Given the description of an element on the screen output the (x, y) to click on. 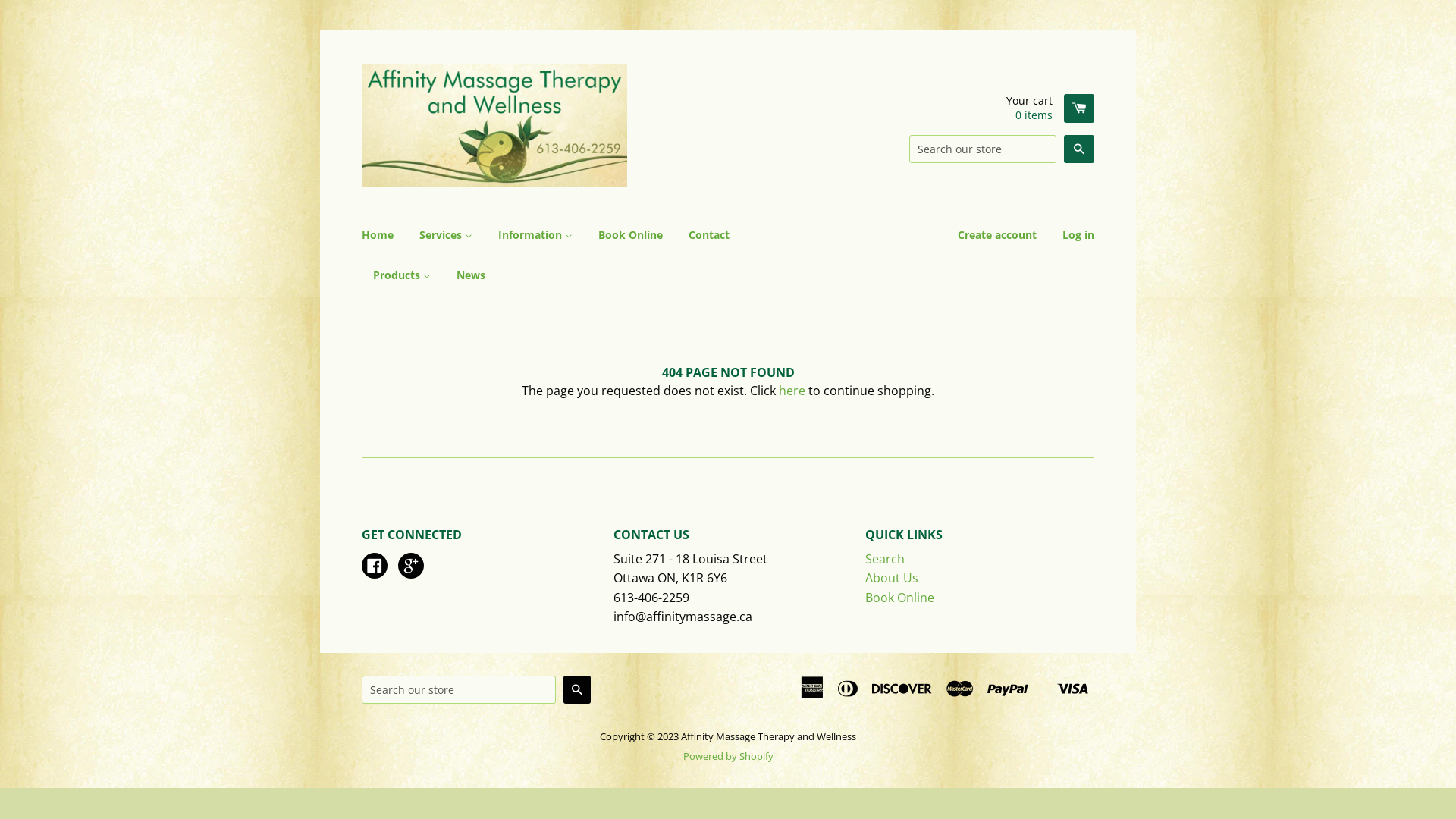
Information Element type: text (534, 234)
Search Element type: text (884, 558)
Book Online Element type: text (899, 597)
News Element type: text (465, 274)
here Element type: text (791, 390)
Search Element type: text (576, 689)
Log in Element type: text (1072, 234)
Book Online Element type: text (630, 234)
Search Element type: text (1078, 148)
Contact Element type: text (708, 234)
About Us Element type: text (891, 577)
Services Element type: text (445, 234)
Facebook Element type: text (374, 566)
Products Element type: text (401, 274)
Your cart
0 items Element type: text (1050, 108)
Powered by Shopify Element type: text (727, 755)
Create account Element type: text (997, 234)
Home Element type: text (382, 234)
Google Element type: text (410, 566)
